Given the description of an element on the screen output the (x, y) to click on. 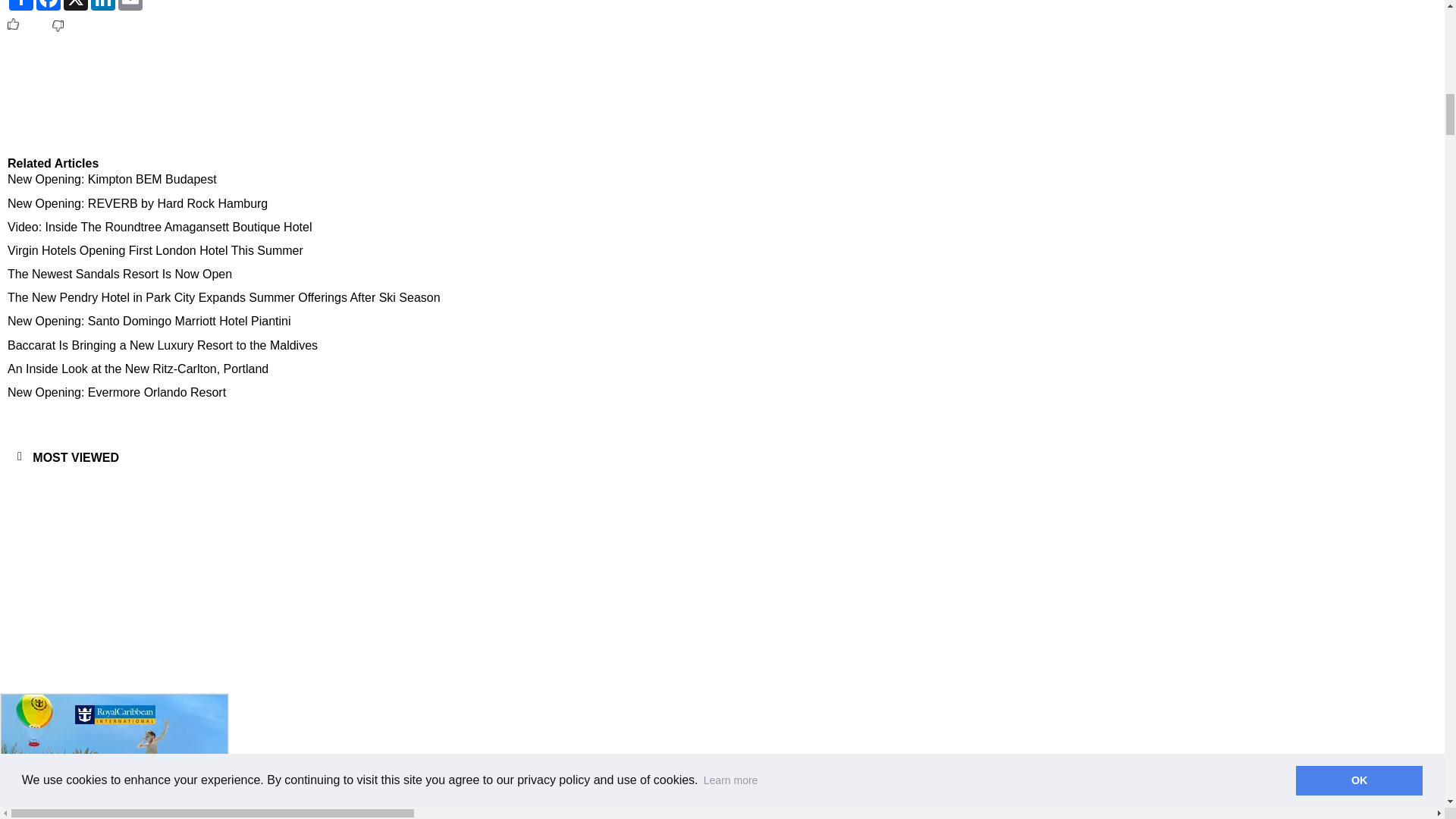
Facebook (48, 5)
Email (130, 5)
X (75, 5)
LinkedIn (102, 5)
New Opening: Kimpton BEM Budapest (393, 178)
Share (20, 5)
